Given the description of an element on the screen output the (x, y) to click on. 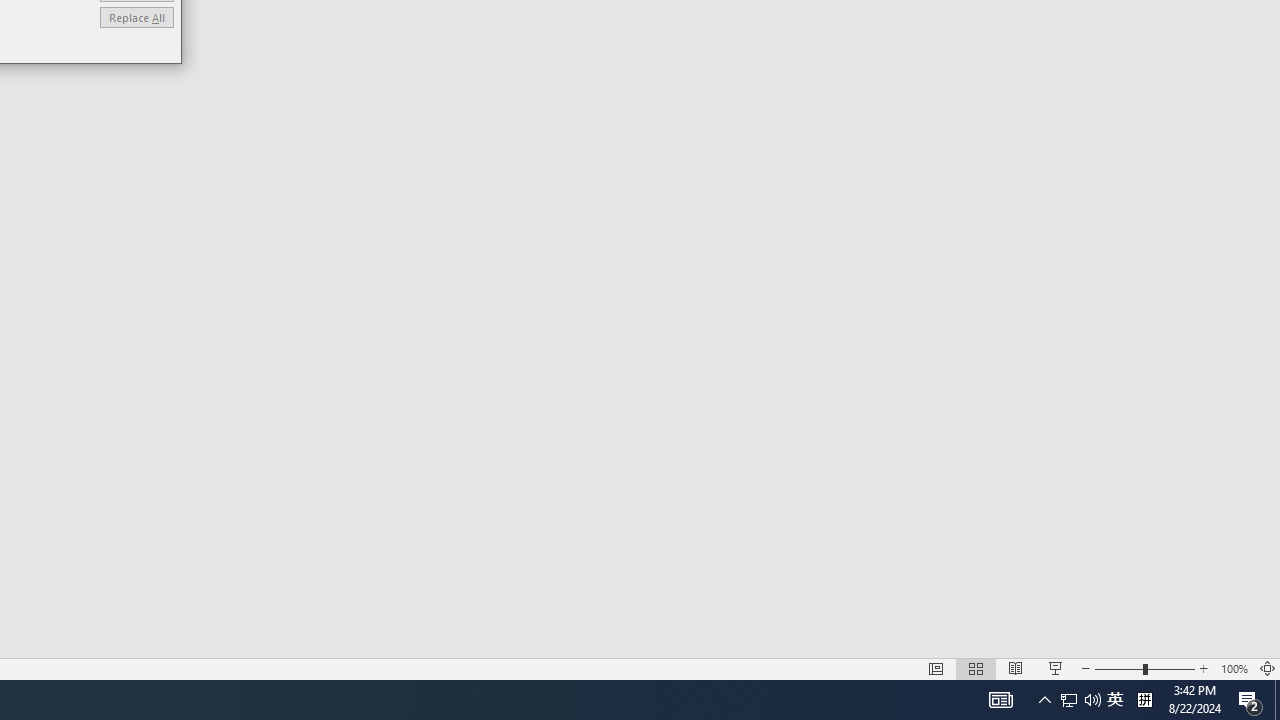
Zoom 100% (1234, 668)
Replace All (136, 16)
